Given the description of an element on the screen output the (x, y) to click on. 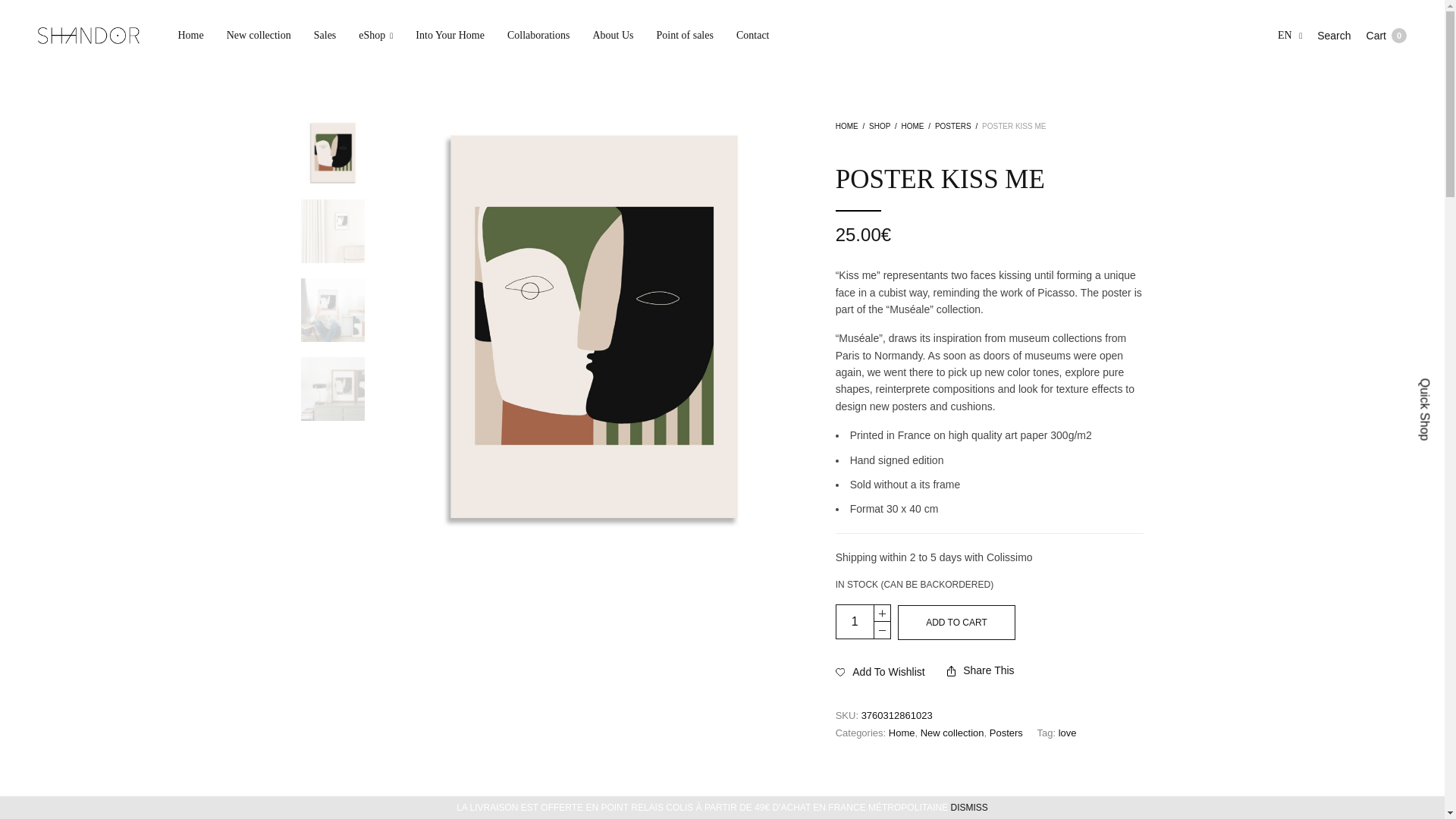
aff-embr-amb-1200 (333, 388)
Poster kiss me  (333, 152)
Contact (753, 35)
Point of sales (684, 35)
Into Your Home (449, 35)
New collection (259, 35)
eShop (375, 35)
Cart (1386, 35)
Search (1334, 35)
1 (1386, 35)
About Us (855, 621)
Poster face kiss me (612, 35)
